Given the description of an element on the screen output the (x, y) to click on. 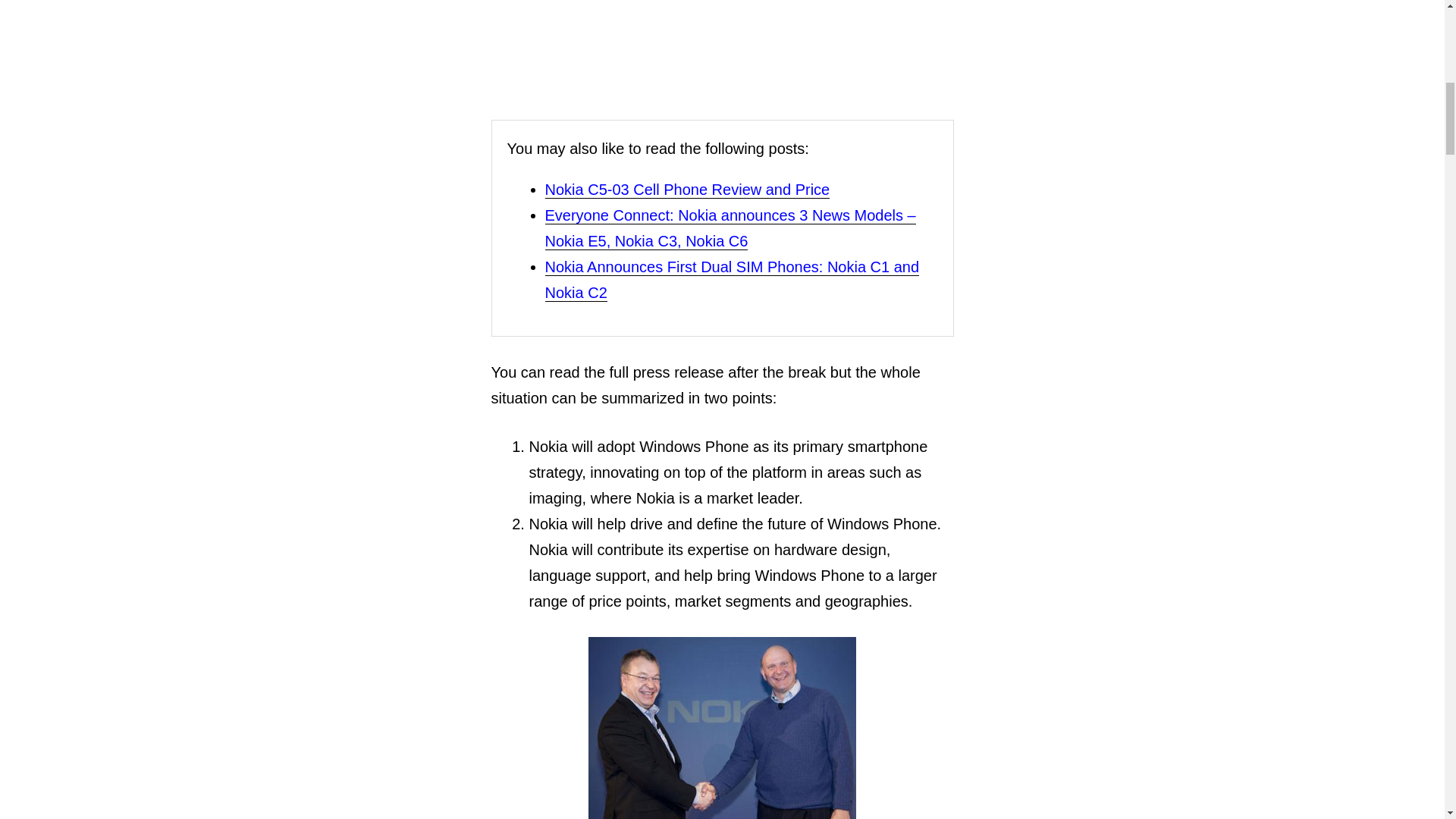
Nokia Announces First Dual SIM Phones: Nokia C1 and Nokia C2 (731, 280)
Advertisement (722, 44)
Nokia C5-03 Cell Phone Review and Price (686, 189)
